Given the description of an element on the screen output the (x, y) to click on. 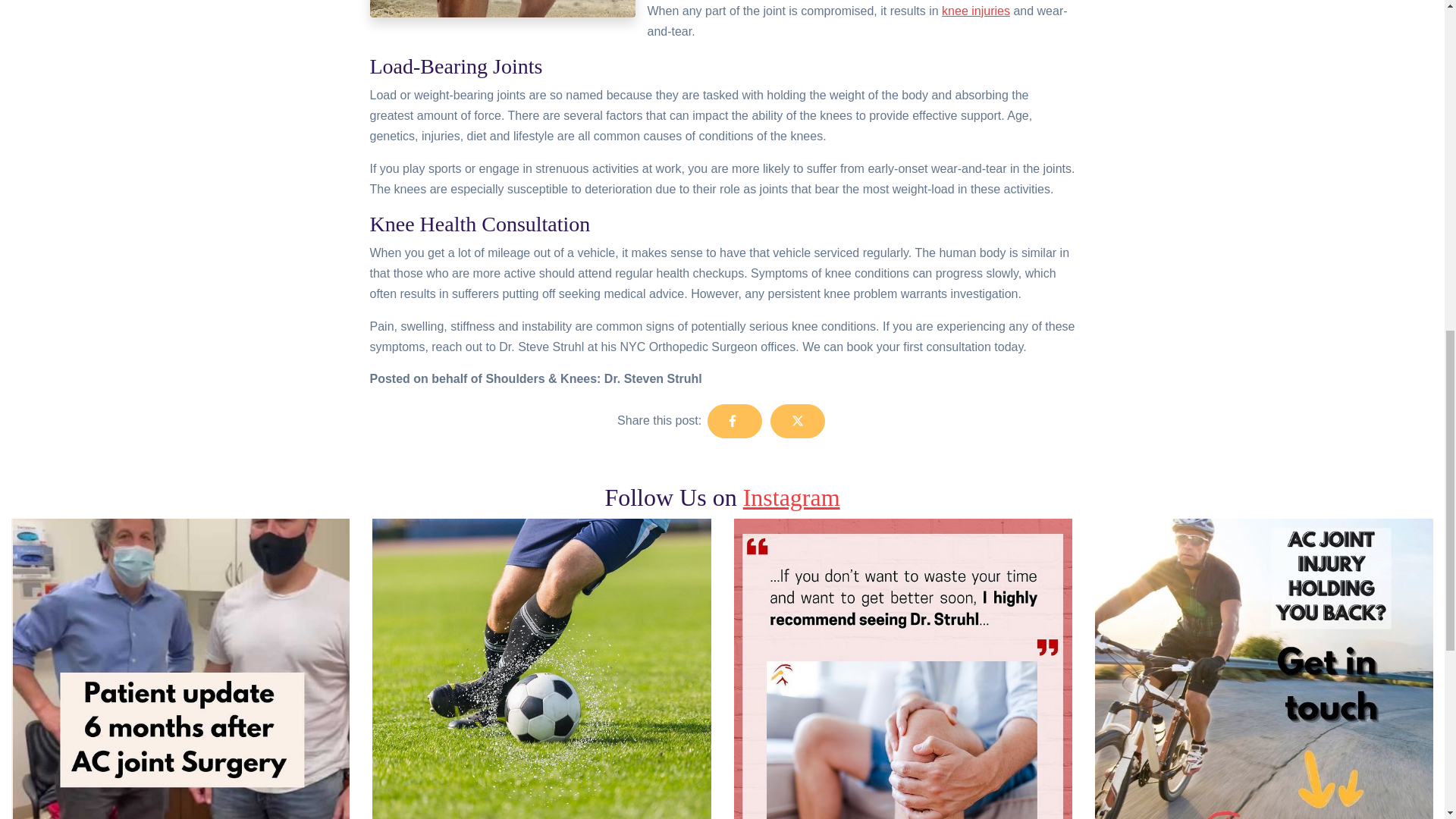
Instagram (791, 497)
New York City NY Top Orthopedic Knee Surgeon (976, 10)
knee injuries (976, 10)
